Given the description of an element on the screen output the (x, y) to click on. 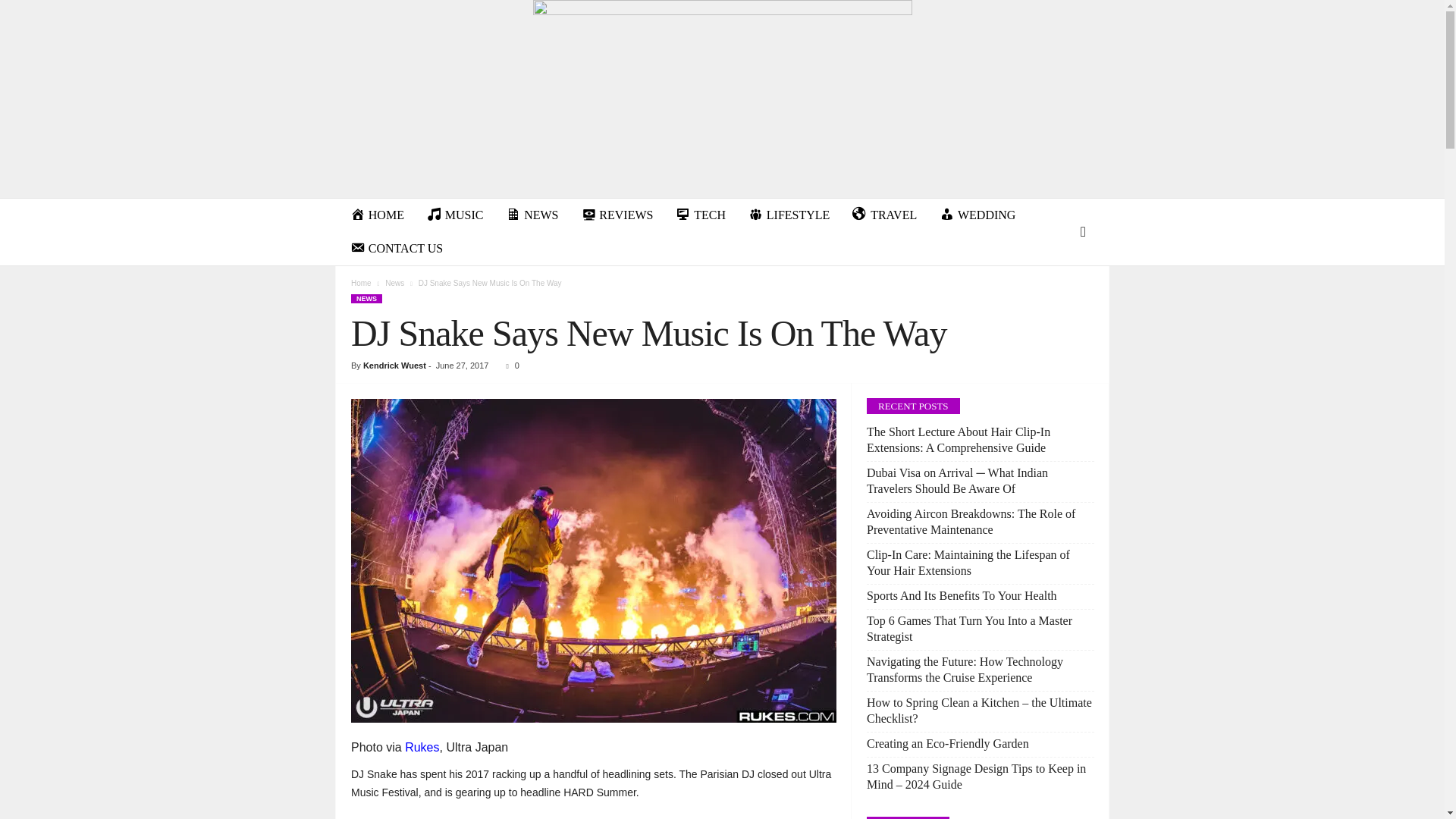
View all posts in News (394, 283)
MUSIC (454, 215)
TRAVEL (884, 215)
NEWS (532, 215)
TECH (699, 215)
WEDDING (977, 215)
HOME (376, 215)
Kendrick Wuest (394, 365)
NEWS (365, 298)
LIFESTYLE (788, 215)
Home (360, 283)
Rukes (421, 747)
News (394, 283)
0 (508, 365)
